Given the description of an element on the screen output the (x, y) to click on. 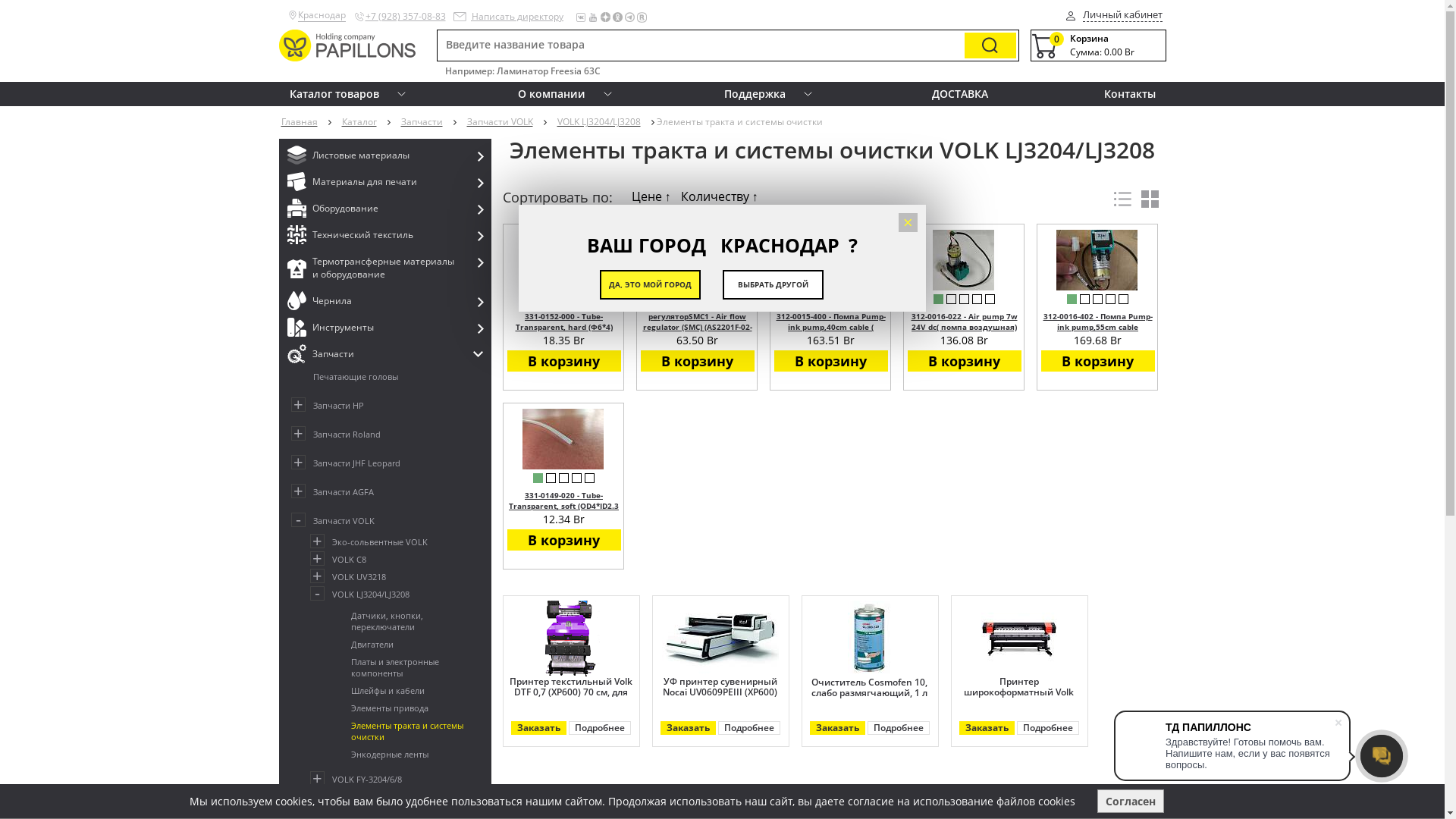
VOLK LJ3204/LJ3208 Element type: text (599, 121)
VOLK C8 Element type: text (399, 558)
VOLK LJ3204/LJ3208 Element type: text (399, 593)
VOLK UV3218 Element type: text (399, 576)
+7 (928) 357-08-83 Element type: text (405, 15)
VOLK FY-3204/6/8 Element type: text (399, 778)
